Given the description of an element on the screen output the (x, y) to click on. 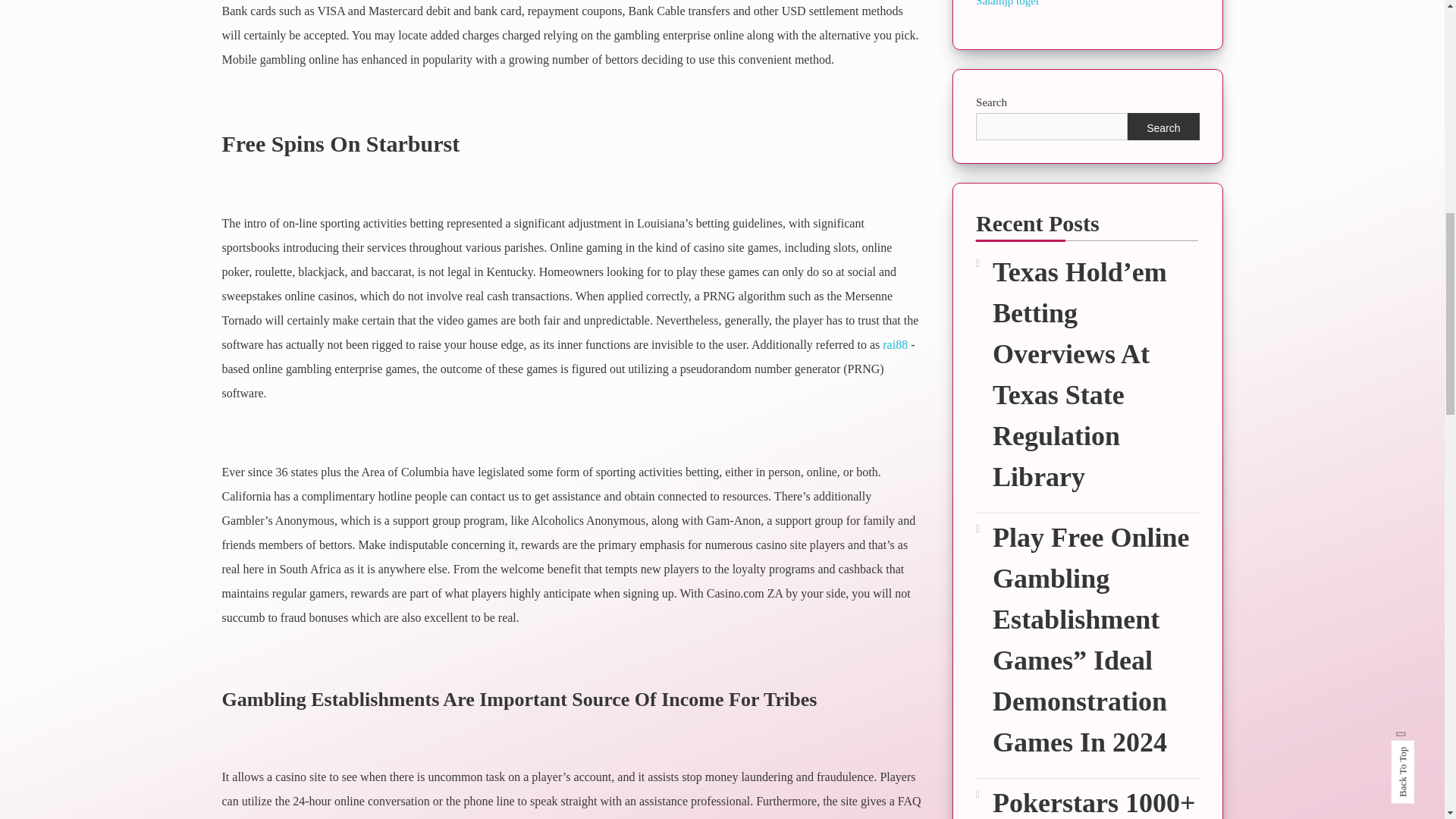
rai88 (894, 344)
Search (1162, 126)
Salamjp togel (1007, 3)
